Given the description of an element on the screen output the (x, y) to click on. 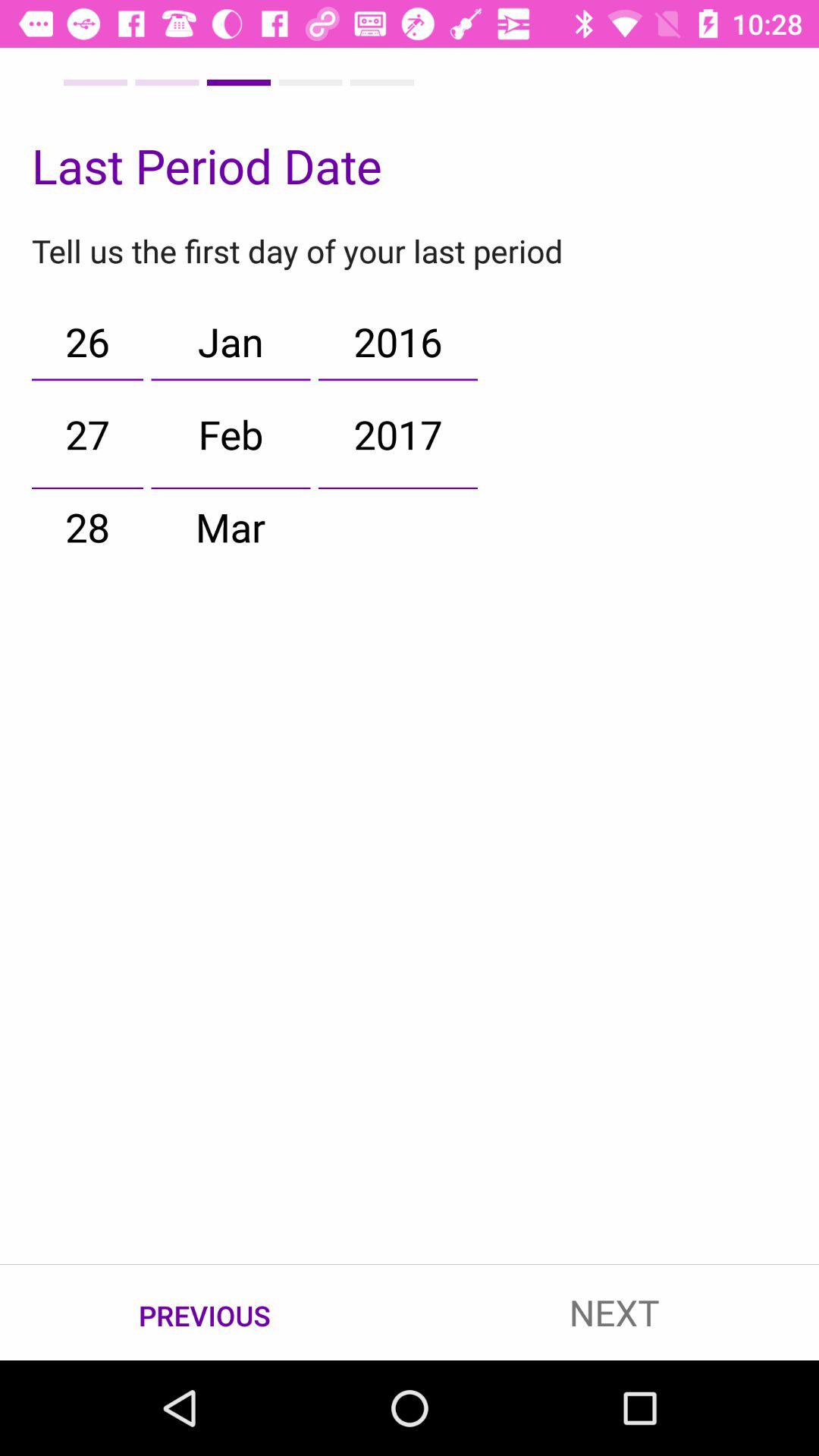
choose item to the left of the next (204, 1313)
